Given the description of an element on the screen output the (x, y) to click on. 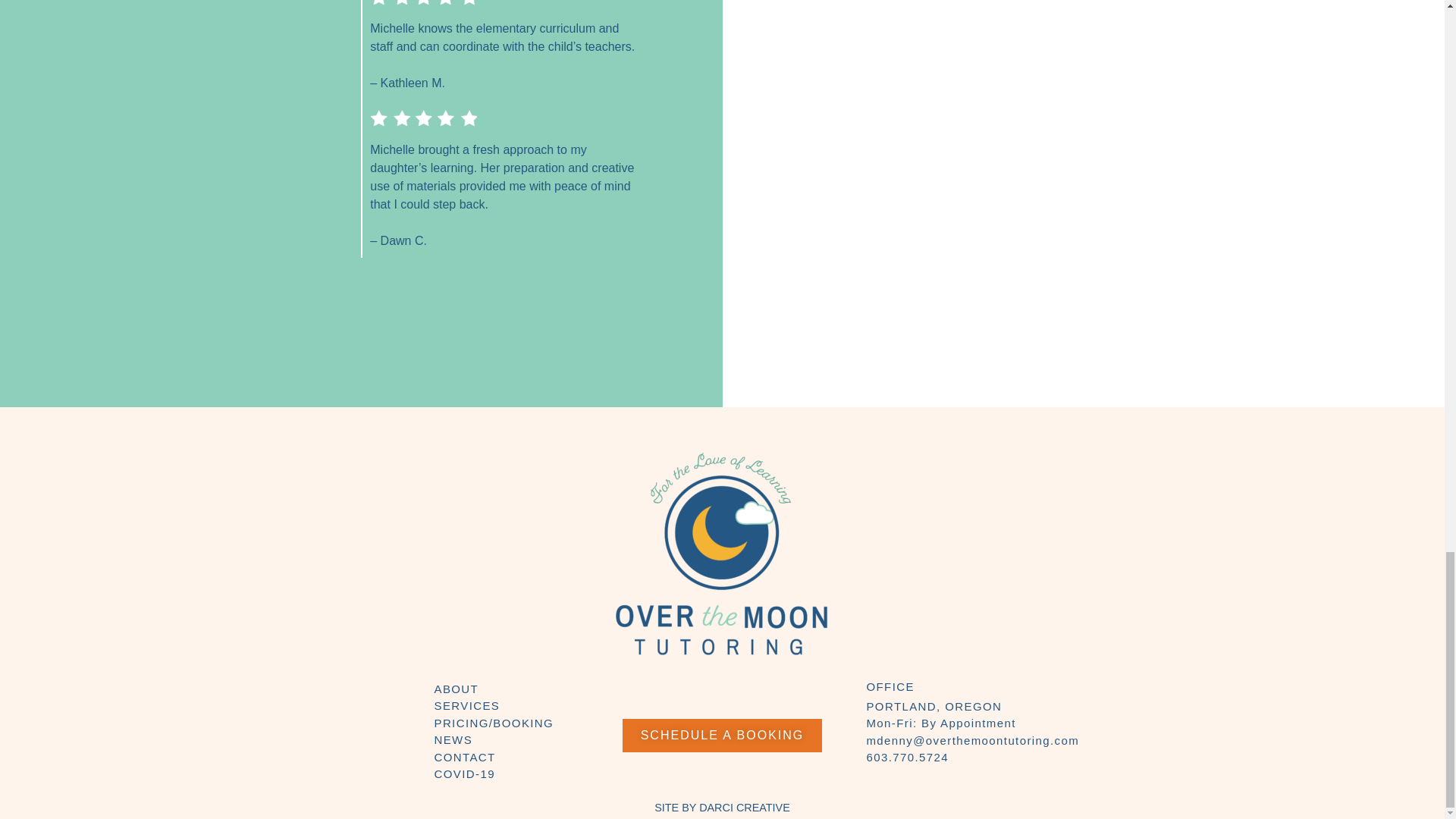
DARCI CREATIVE (744, 807)
NEWS (452, 739)
COVID-19 (464, 773)
CONTACT (464, 757)
603.770.5724 (907, 757)
SCHEDULE A BOOKING (722, 735)
SERVICES (466, 705)
ABOUT (456, 688)
